Given the description of an element on the screen output the (x, y) to click on. 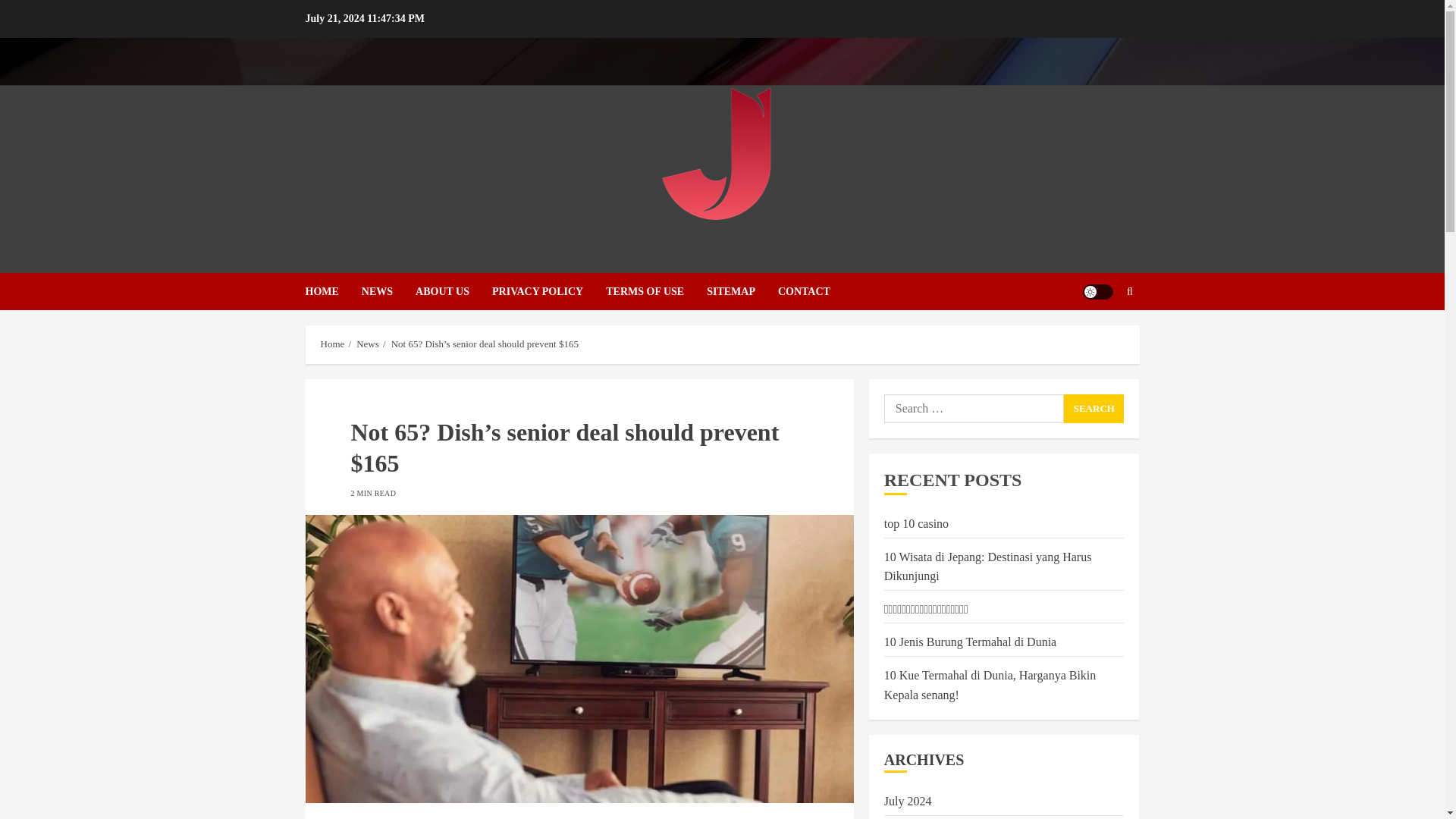
Home (331, 344)
Search (1094, 408)
ABOUT US (453, 291)
top 10 casino (916, 523)
Search (1094, 408)
PRIVACY POLICY (548, 291)
HOME (332, 291)
Search (1099, 337)
News (367, 344)
Search (1094, 408)
CONTACT (803, 291)
TERMS OF USE (655, 291)
SITEMAP (741, 291)
NEWS (387, 291)
